Given the description of an element on the screen output the (x, y) to click on. 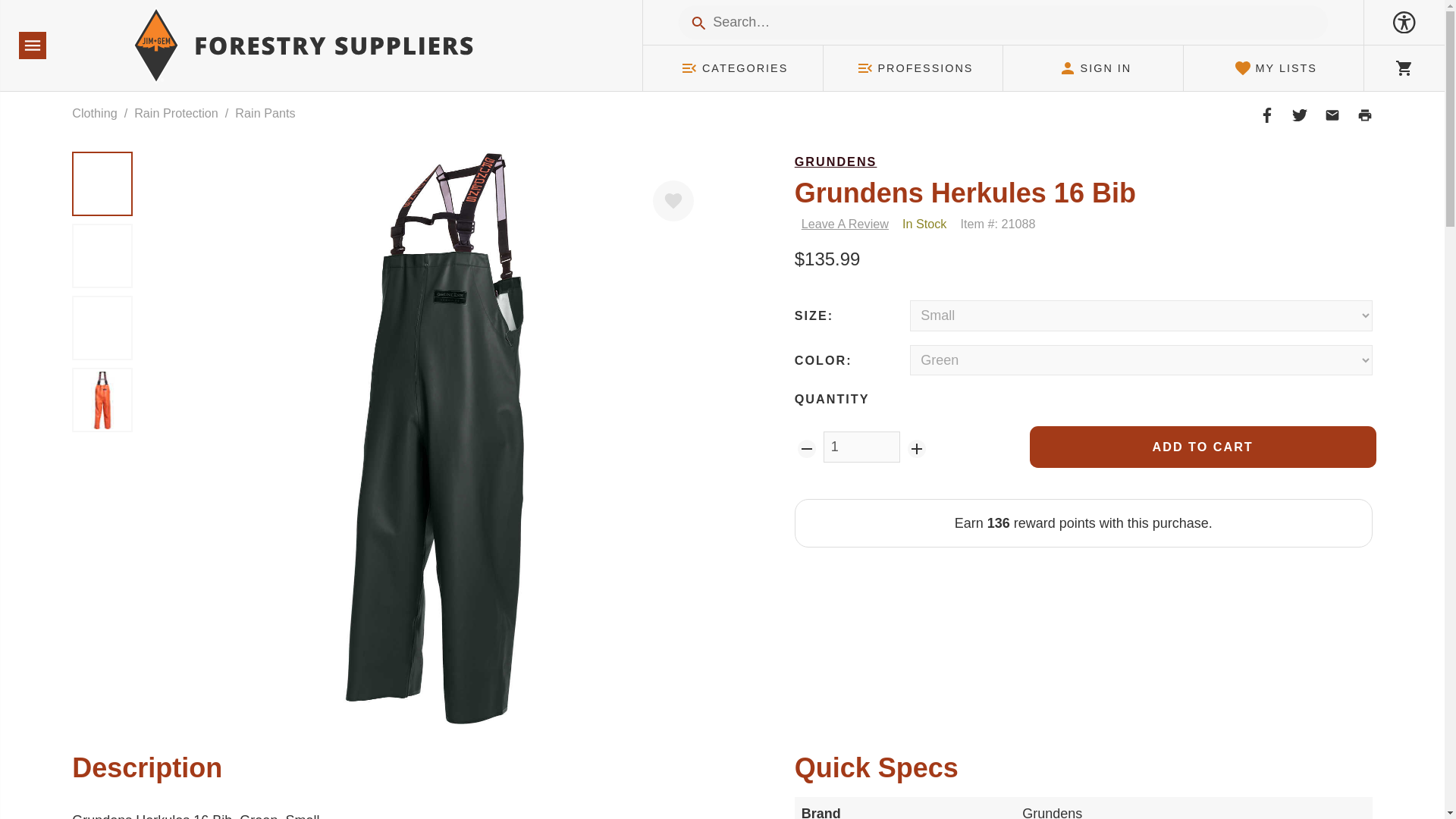
1 (862, 446)
Add To List (673, 200)
